Given the description of an element on the screen output the (x, y) to click on. 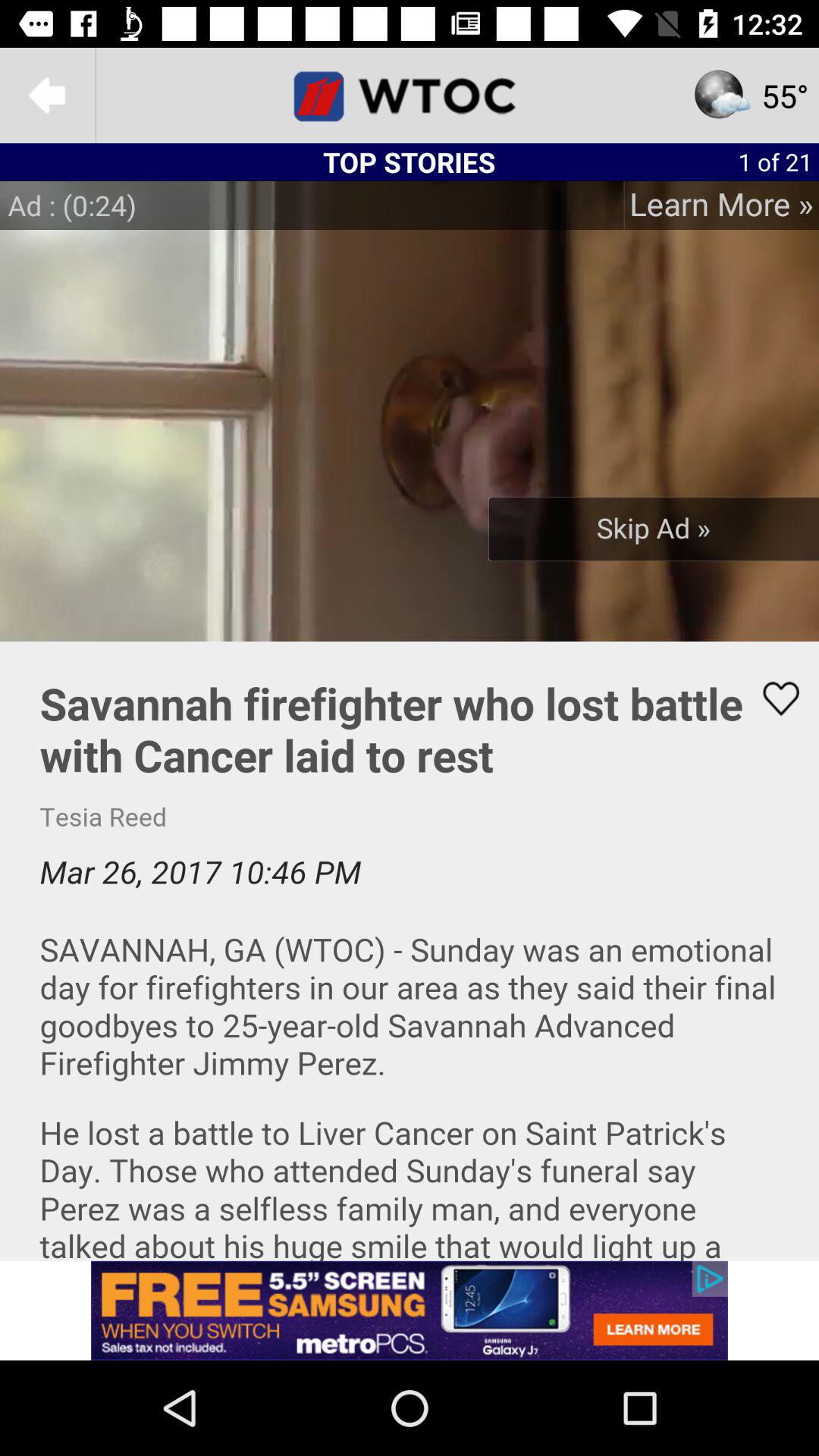
favorites (771, 698)
